Given the description of an element on the screen output the (x, y) to click on. 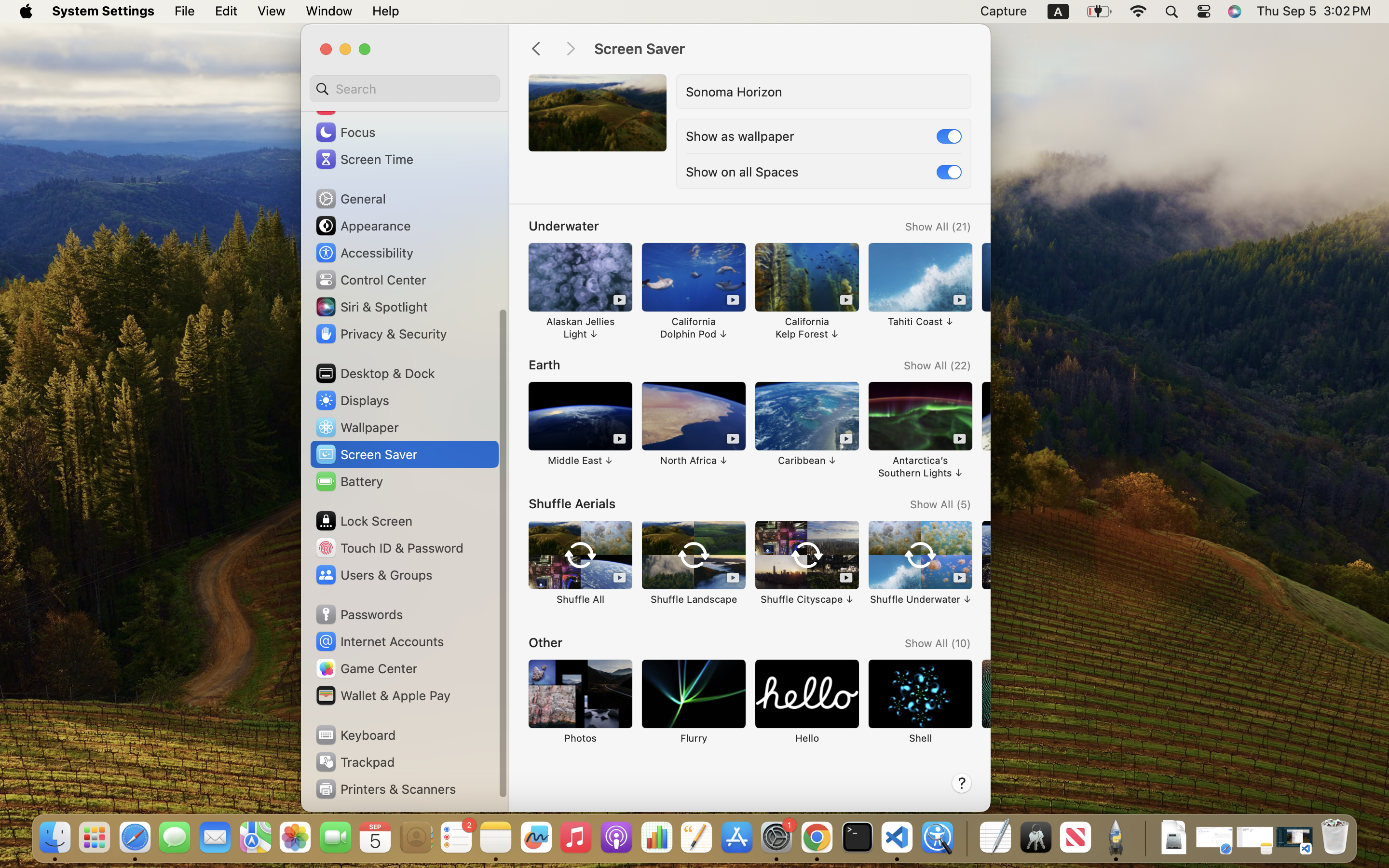
Earth Element type: AXStaticText (544, 364)
Users & Groups Element type: AXStaticText (373, 574)
Trackpad Element type: AXStaticText (354, 761)
Accessibility Element type: AXStaticText (363, 252)
